Given the description of an element on the screen output the (x, y) to click on. 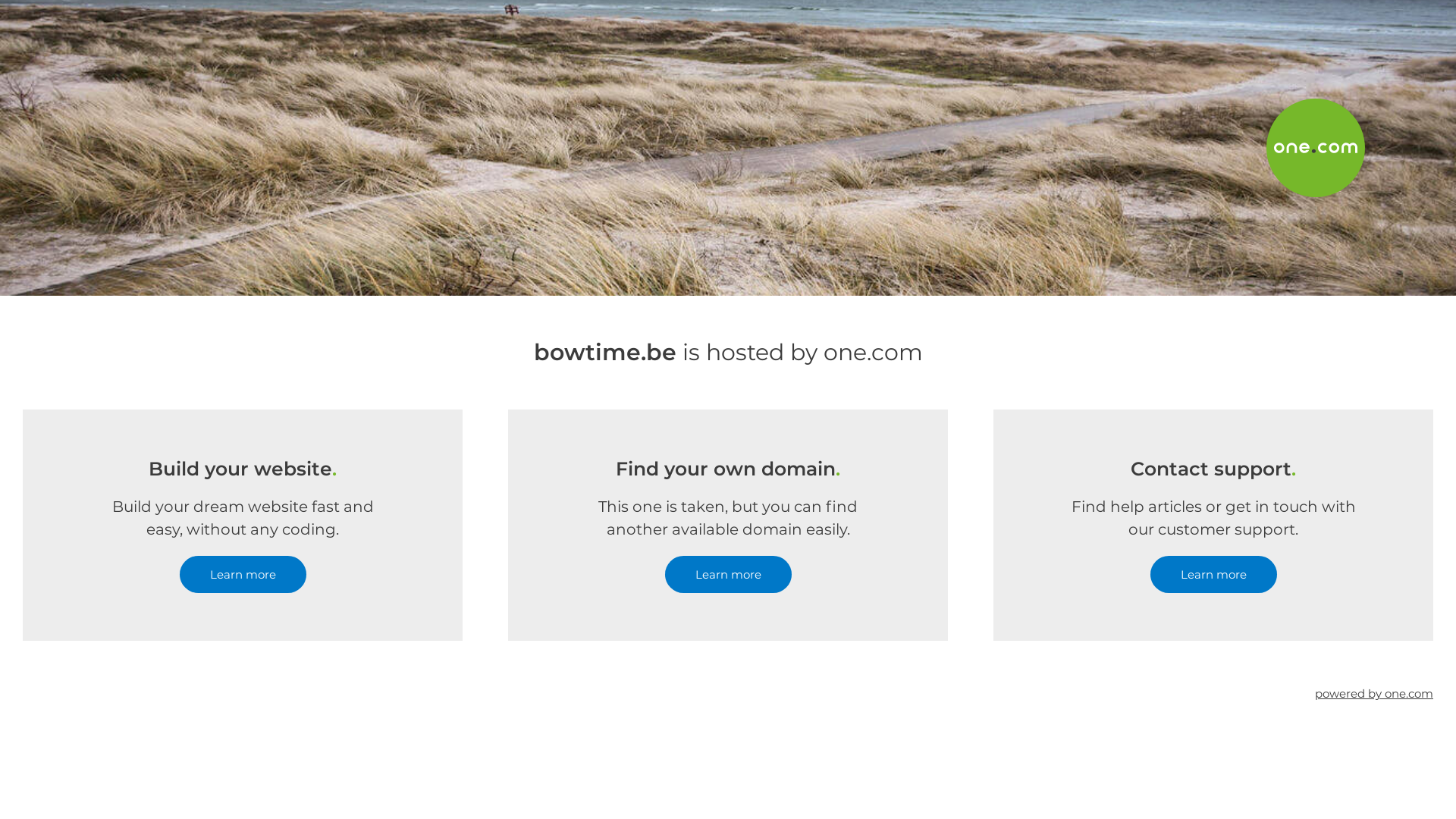
Learn more Element type: text (1212, 574)
powered by one.com Element type: text (1373, 693)
Learn more Element type: text (241, 574)
Learn more Element type: text (727, 574)
